Given the description of an element on the screen output the (x, y) to click on. 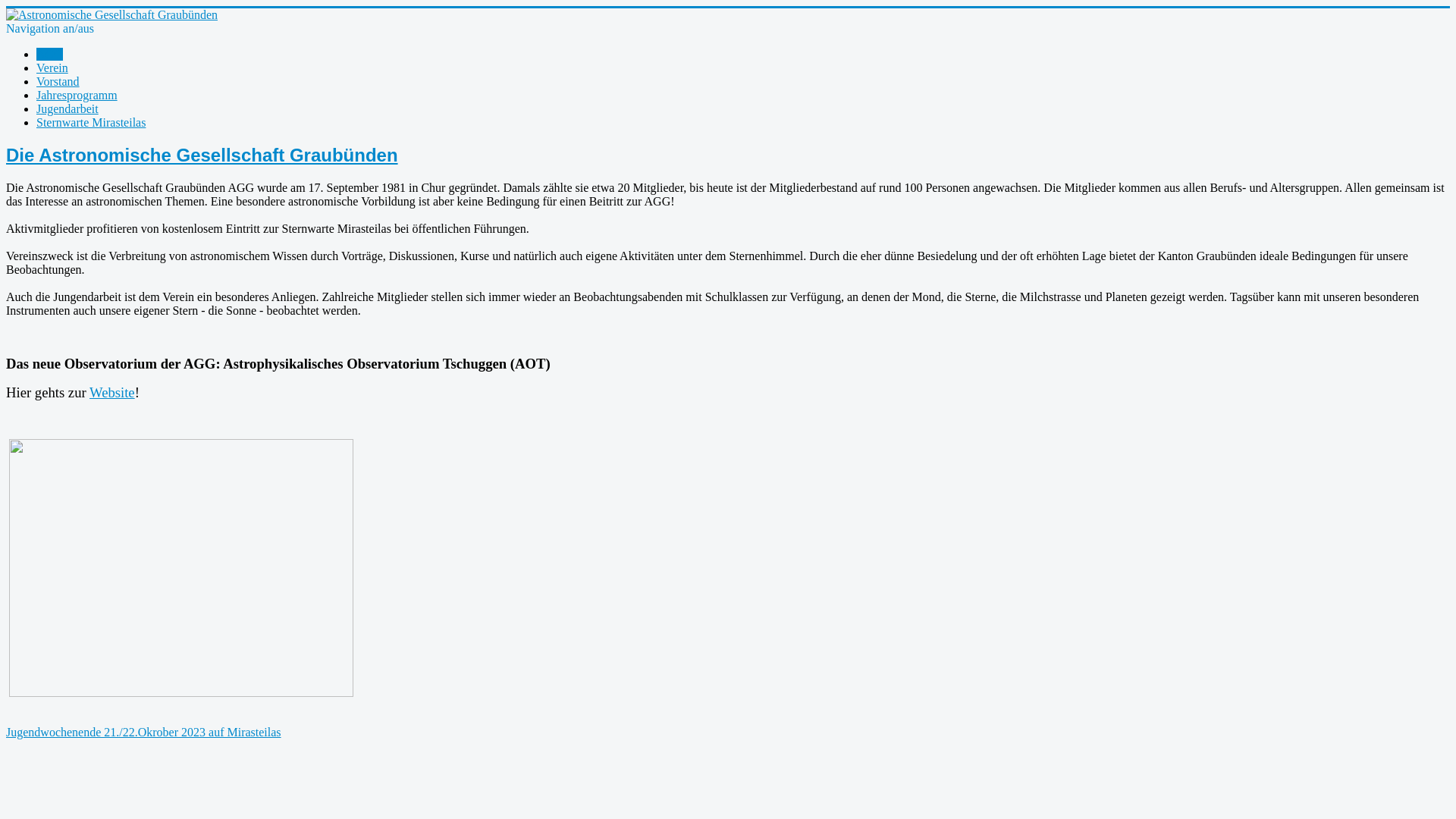
Sternwarte Mirasteilas Element type: text (90, 122)
Website Element type: text (111, 392)
Jugendwochenende 21./22.Okrober 2023 auf Mirasteilas Element type: text (143, 731)
Jugendarbeit Element type: text (67, 108)
AGG Element type: text (49, 53)
Navigation an/aus Element type: text (50, 27)
Vorstand Element type: text (57, 81)
Verein Element type: text (52, 67)
Jahresprogramm Element type: text (76, 94)
